Given the description of an element on the screen output the (x, y) to click on. 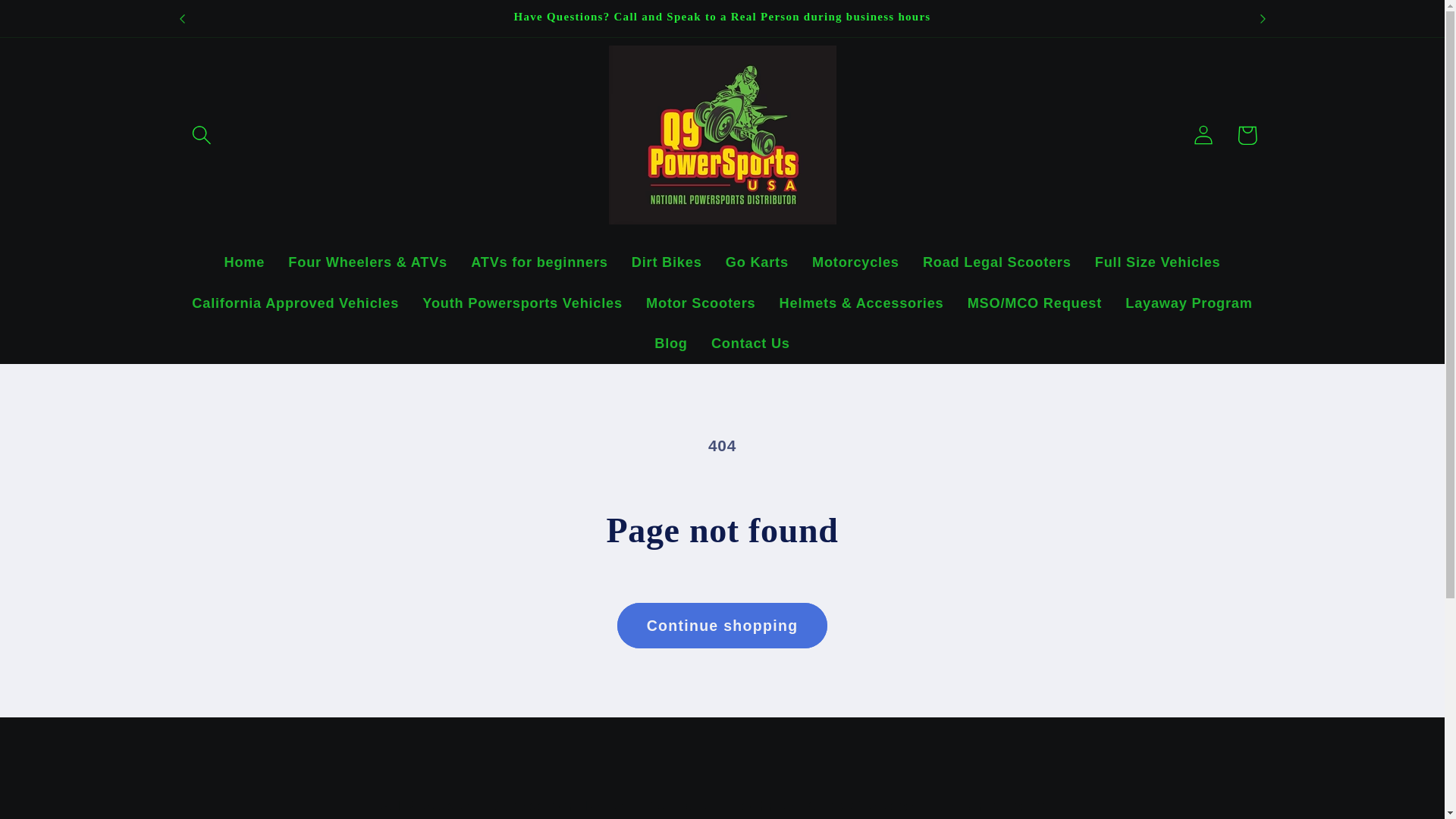
ATVs for beginners (540, 262)
Go Karts (756, 262)
Dirt Bikes (666, 262)
Home (244, 262)
Skip to content (59, 22)
Motorcycles (855, 262)
